Given the description of an element on the screen output the (x, y) to click on. 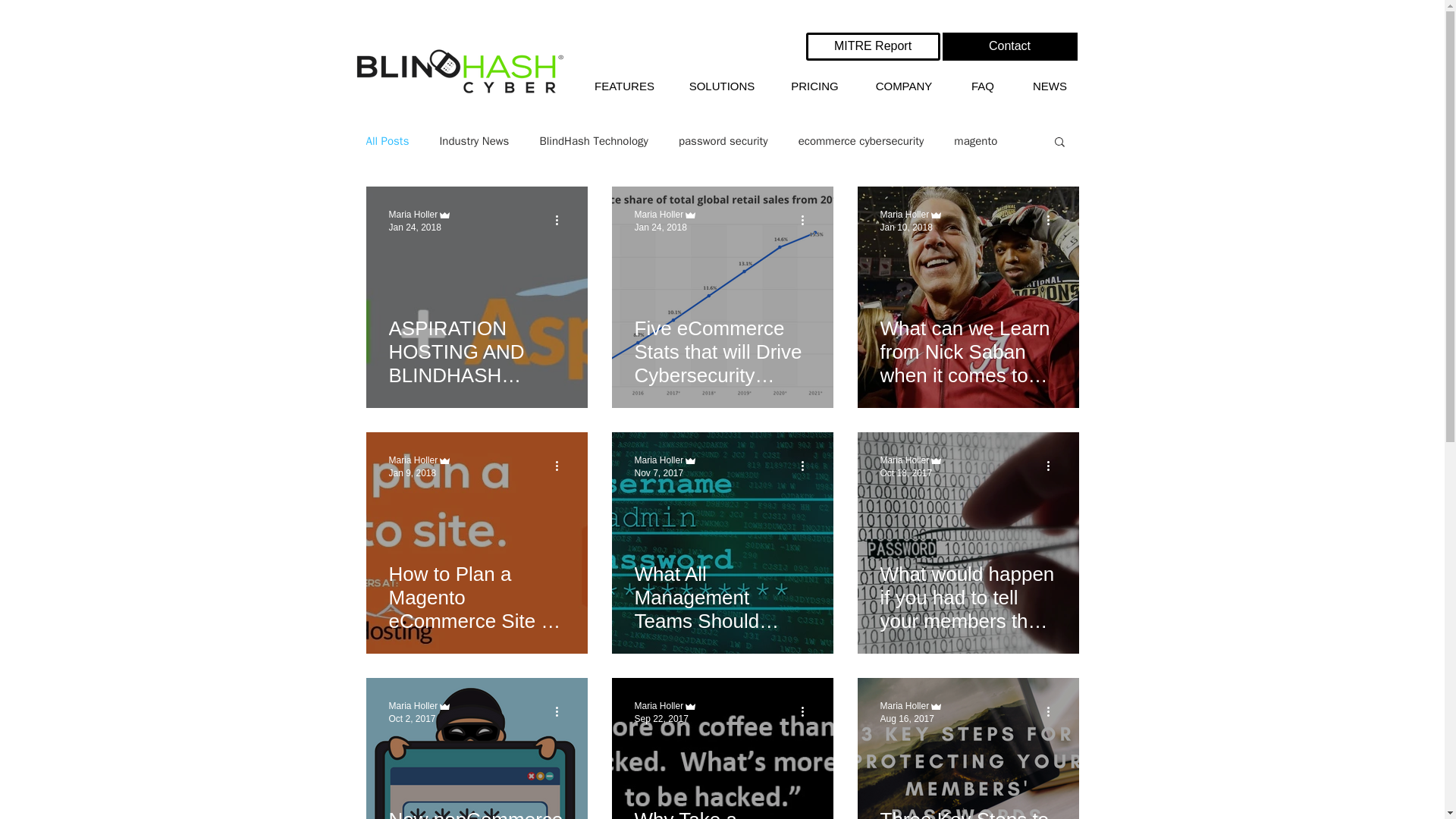
Contact (1009, 46)
Maria Holler (903, 460)
Maria Holler (903, 214)
PRICING (815, 86)
FAQ (981, 86)
Maria Holler (413, 214)
Jan 9, 2018 (411, 471)
MITRE Report (872, 46)
Maria Holler (413, 460)
